Given the description of an element on the screen output the (x, y) to click on. 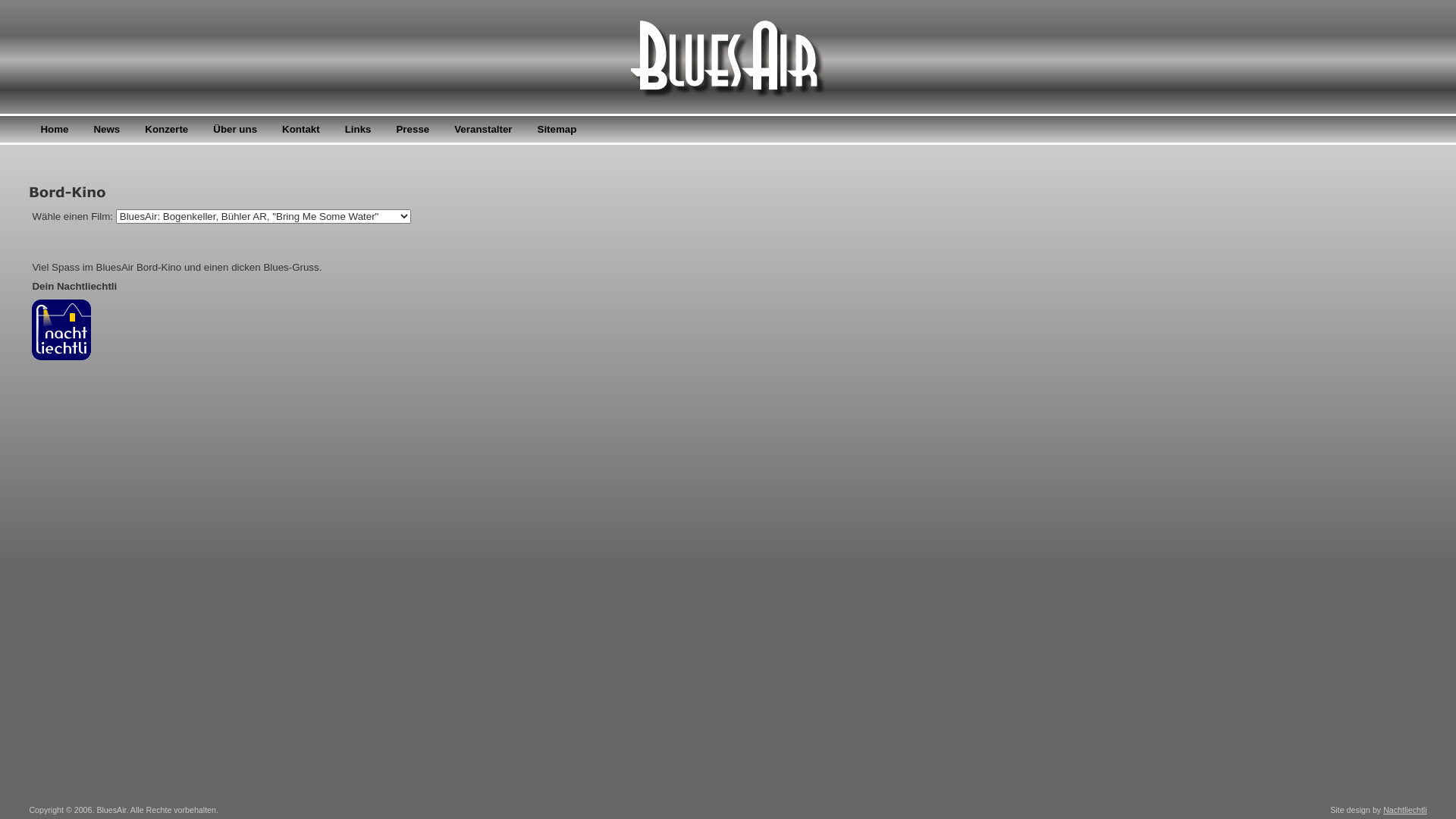
Veranstalter Element type: text (482, 128)
Home Element type: text (54, 128)
Presse Element type: text (412, 128)
Konzerte Element type: text (166, 128)
Nachtliechtli Element type: text (1404, 809)
Links Element type: text (358, 128)
News Element type: text (106, 128)
Kontakt Element type: text (301, 128)
Sitemap Element type: text (557, 128)
